Given the description of an element on the screen output the (x, y) to click on. 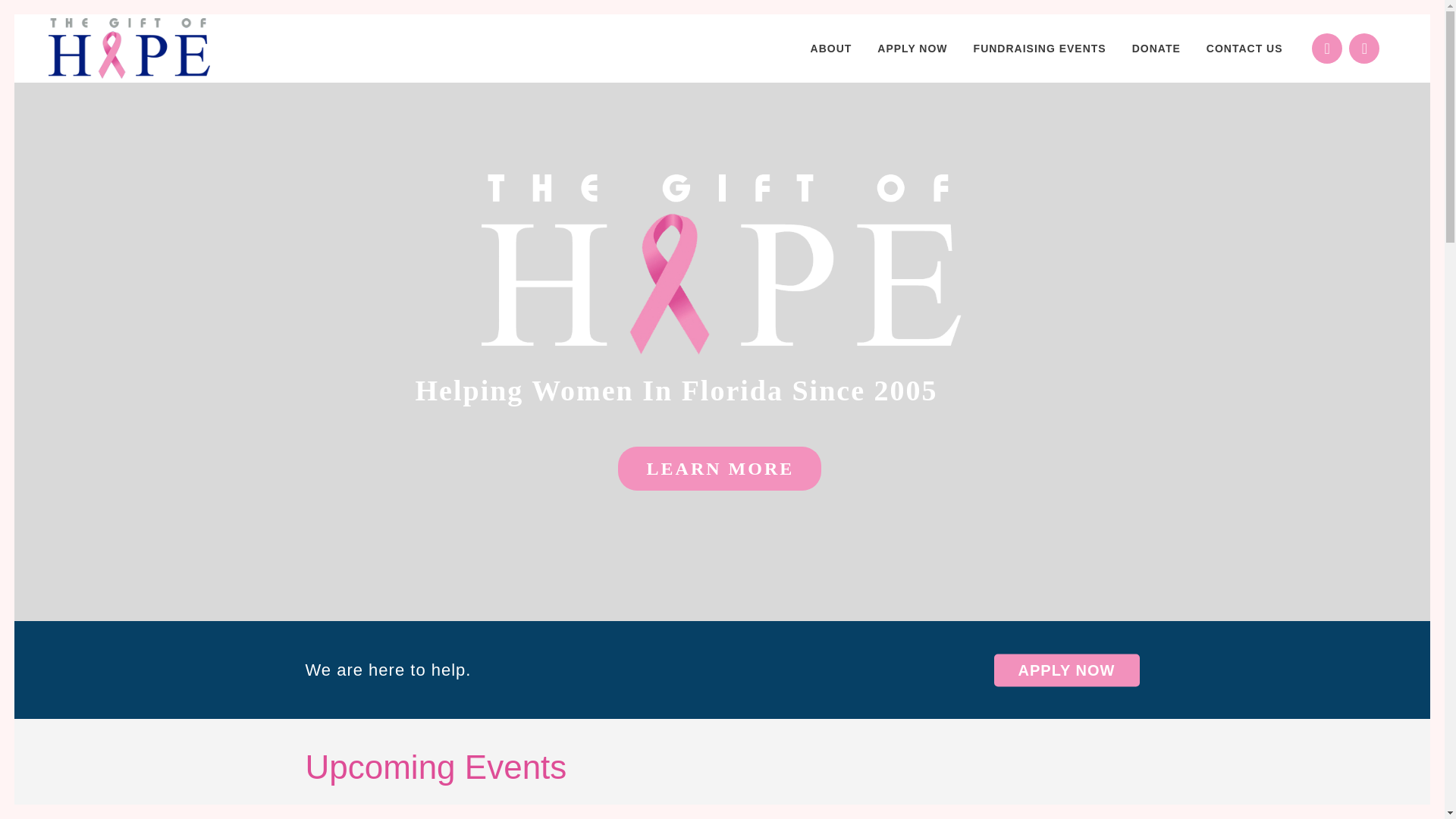
ABOUT (830, 48)
DONATE (1156, 48)
Upcoming Events (435, 766)
CONTACT US (1244, 48)
APPLY NOW (911, 48)
APPLY NOW (1067, 670)
FUNDRAISING EVENTS (1039, 48)
